Given the description of an element on the screen output the (x, y) to click on. 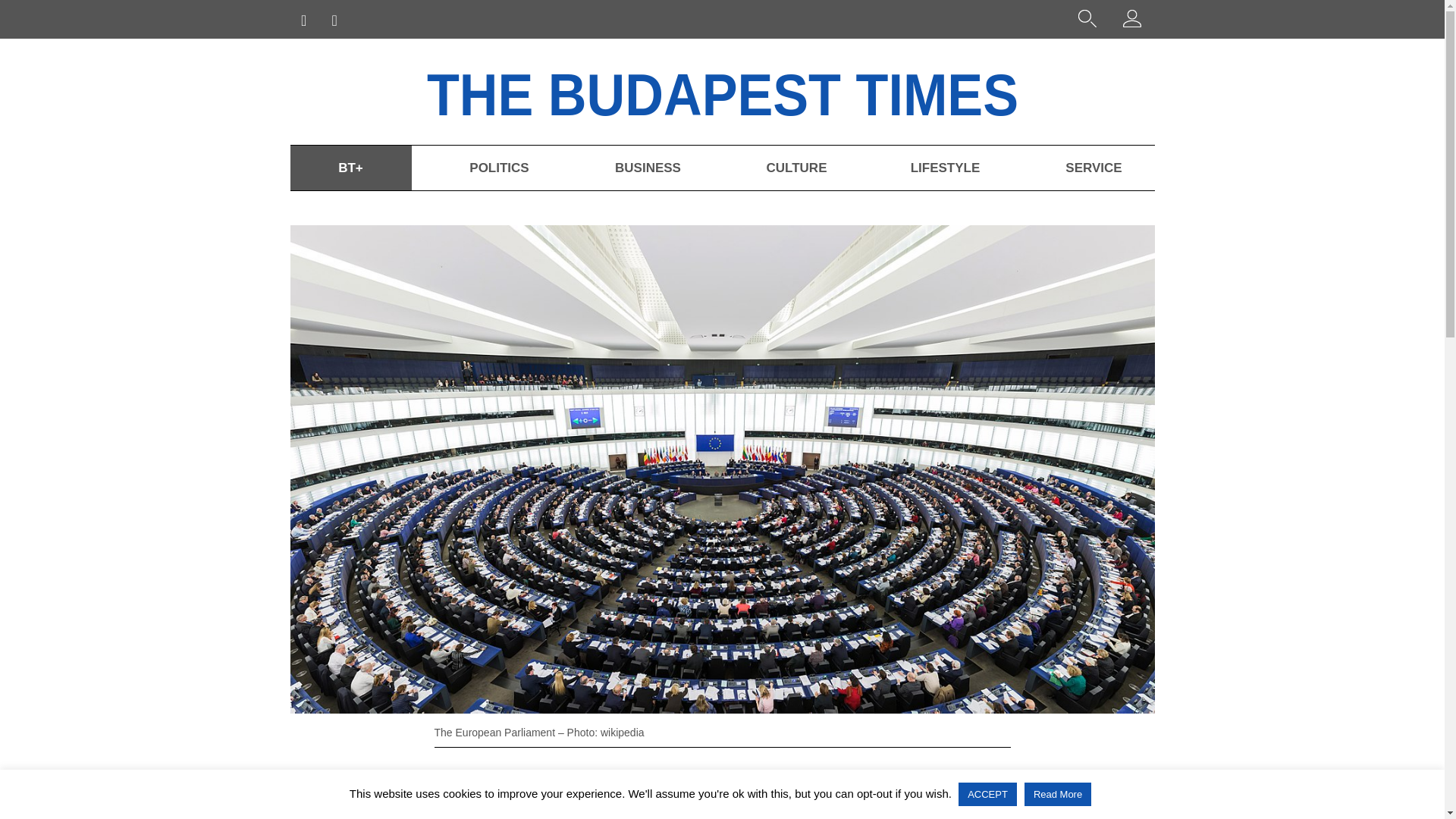
CULTURE (796, 167)
THE BUDAPEST TIMES (765, 91)
LIFESTYLE (944, 167)
POLITICS (498, 167)
SERVICE (1093, 167)
Facebook (352, 791)
Login (1131, 20)
BUSINESS (646, 167)
